Given the description of an element on the screen output the (x, y) to click on. 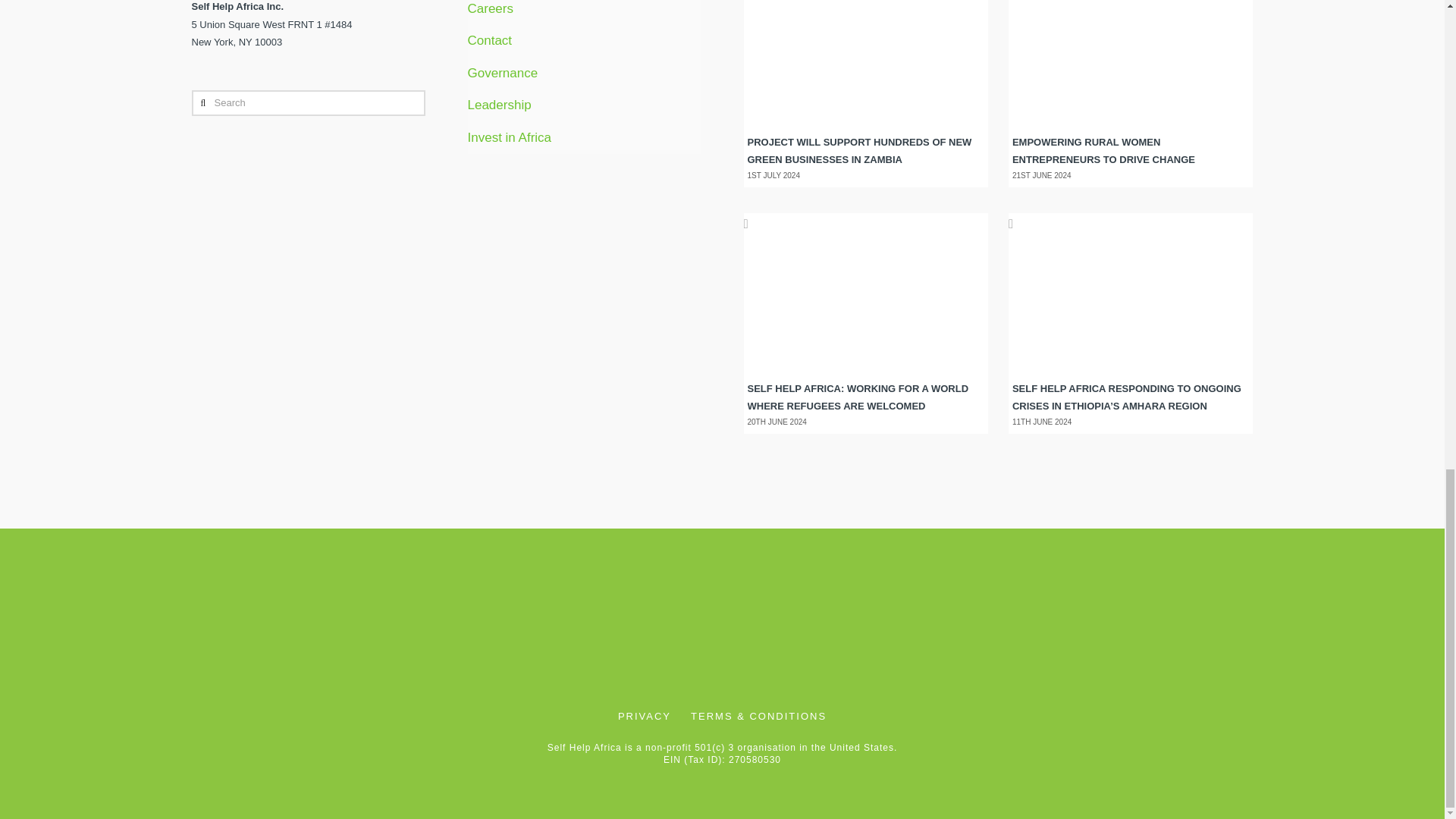
Self Help Africa on Facebook (397, 637)
Self Help Africa Linkedin (732, 637)
Self Help Africa on Instagram (564, 637)
Self Help Africa Twitter (941, 637)
Self Help Africa on Youtube (837, 637)
Self Help Africa Tiktok (1046, 637)
